Given the description of an element on the screen output the (x, y) to click on. 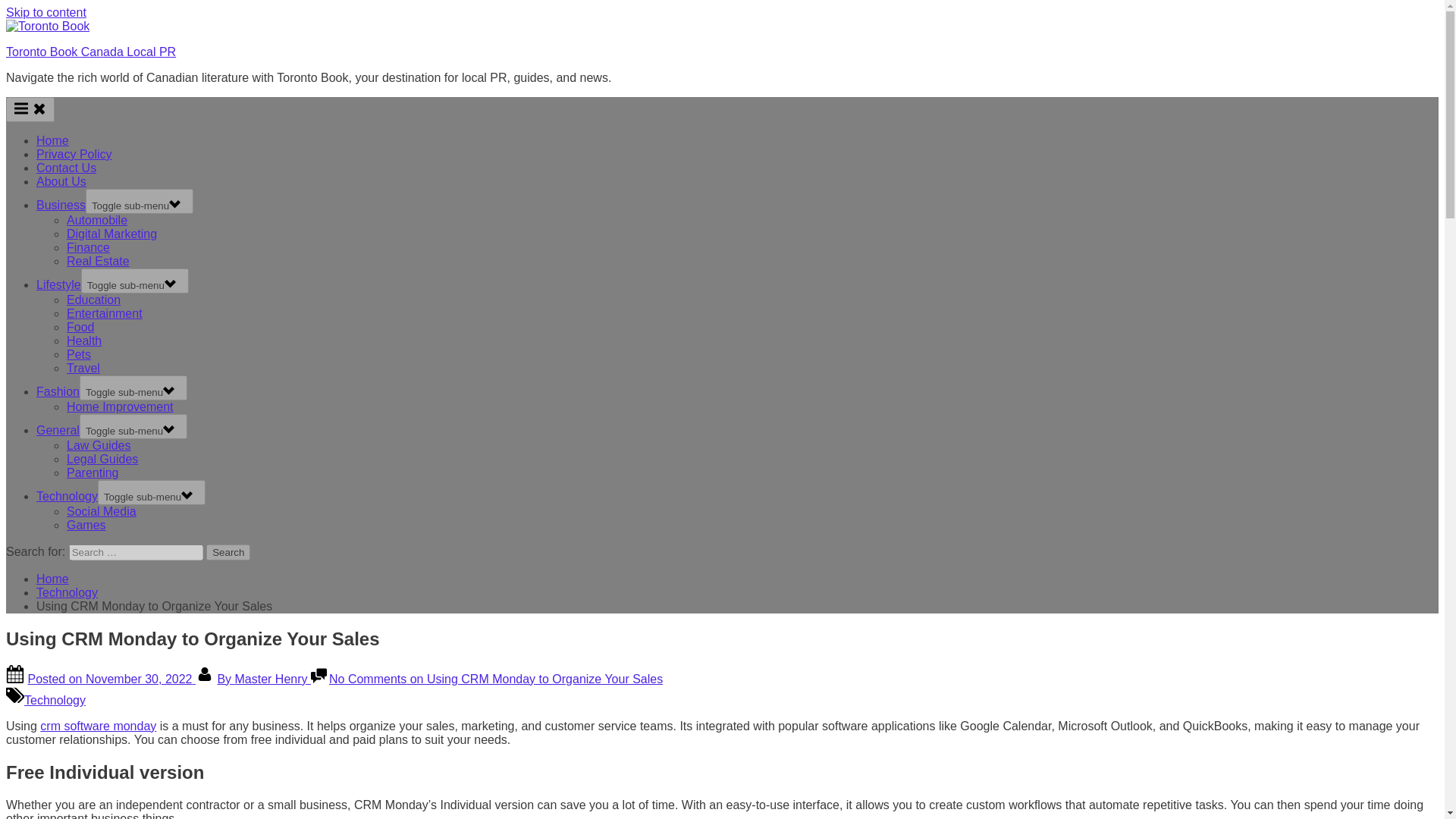
Food (80, 327)
Technology (66, 495)
Home (52, 140)
Toggle sub-menu (133, 387)
About Us (60, 181)
Legal Guides (102, 459)
Pets (78, 354)
Toggle sub-menu (133, 426)
Automobile (97, 219)
No Comments on Using CRM Monday to Organize Your Sales (495, 678)
Business (60, 205)
Fashion (58, 391)
Home Improvement (119, 406)
Privacy Policy (74, 154)
Toggle sub-menu (139, 201)
